Given the description of an element on the screen output the (x, y) to click on. 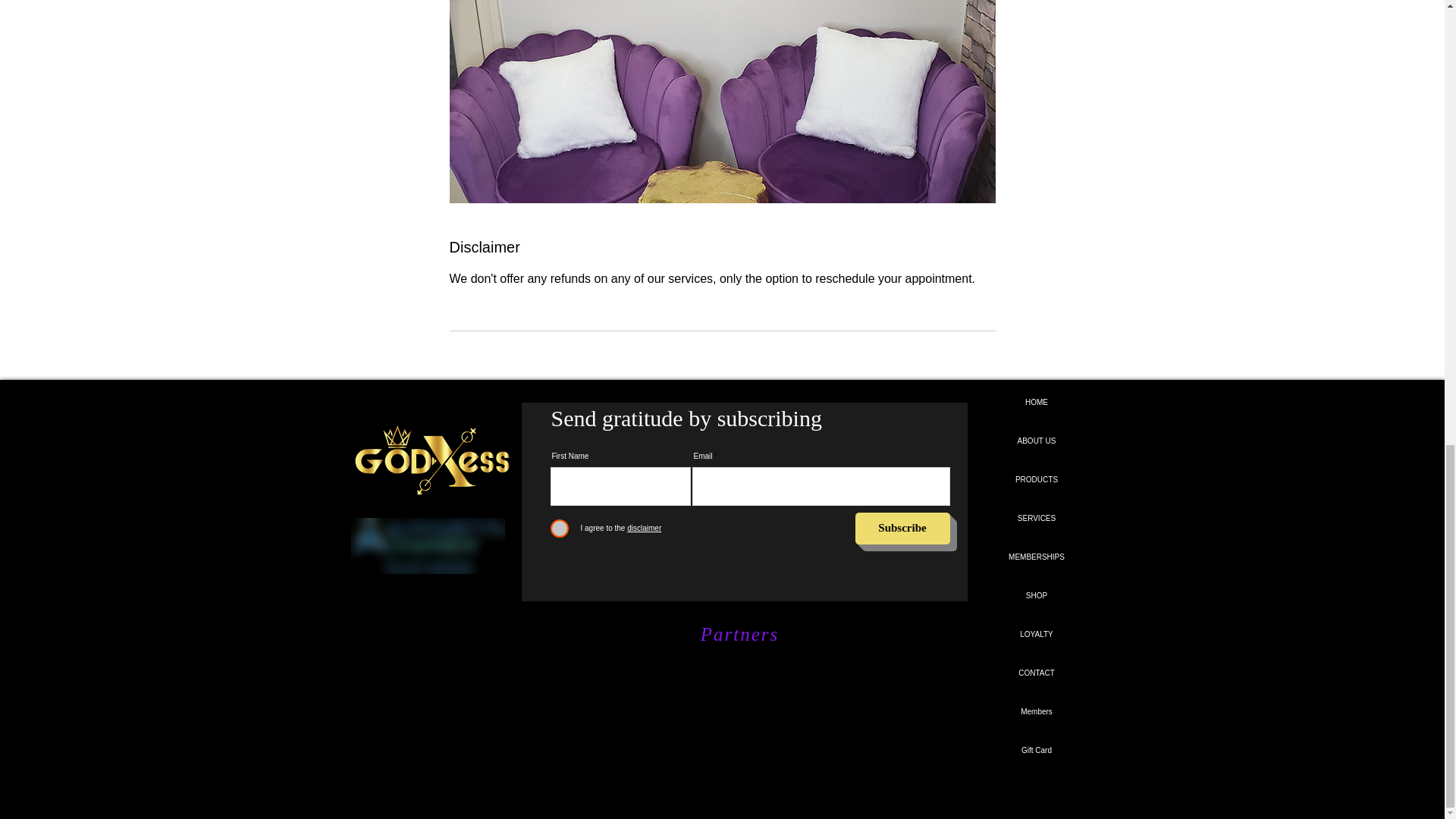
ABOUT US (1035, 441)
SHOP (1035, 596)
HOME (1035, 402)
disclaimer (642, 528)
Gift Card (1035, 750)
Members (1035, 711)
SERVICES (1035, 518)
Subscribe (903, 528)
PRODUCTS (1035, 479)
LOYALTY (1035, 634)
CONTACT (1035, 673)
MEMBERSHIPS (1035, 557)
